Given the description of an element on the screen output the (x, y) to click on. 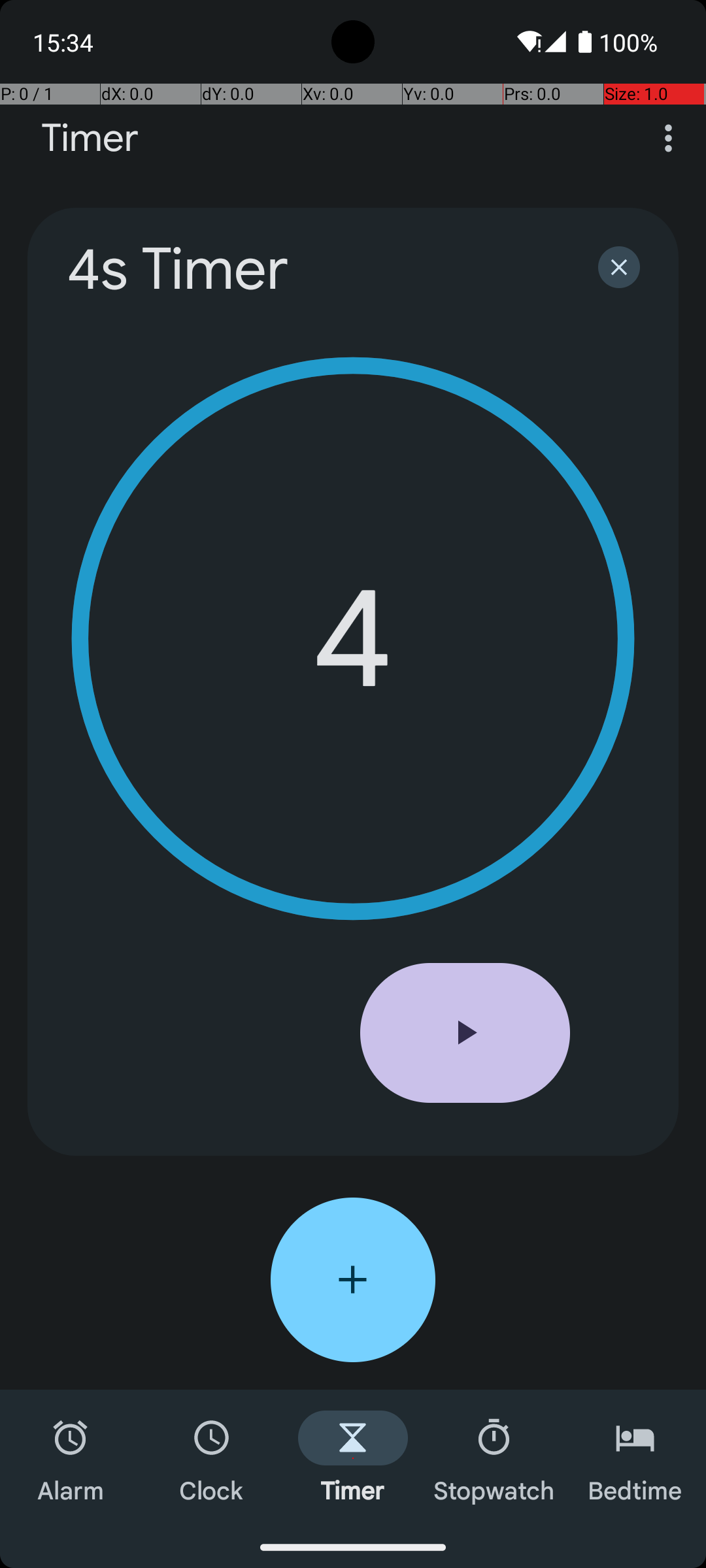
Add timer Element type: android.widget.Button (352, 1279)
4s Timer Element type: android.widget.TextView (315, 269)
